Given the description of an element on the screen output the (x, y) to click on. 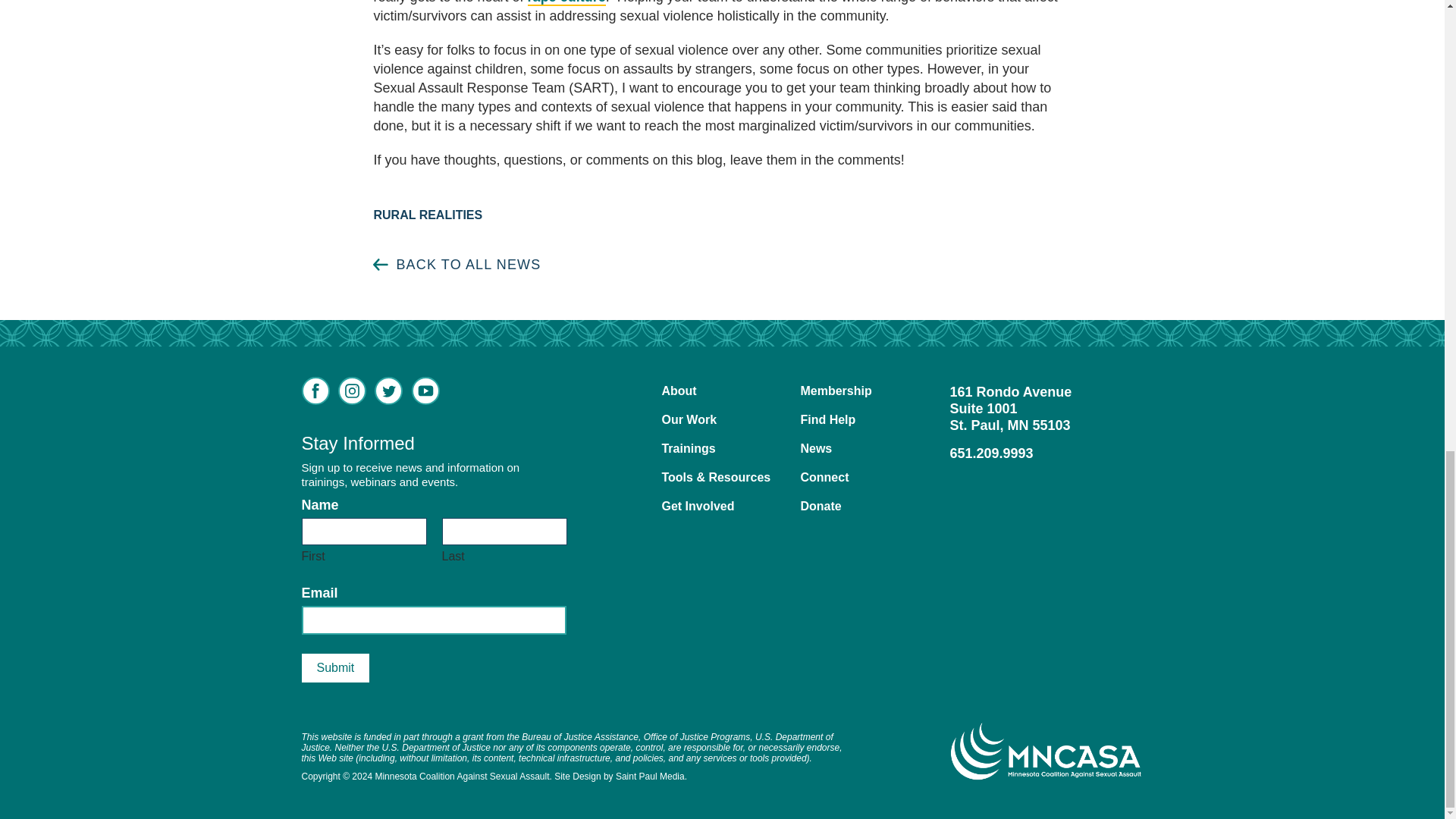
Submit (335, 667)
